Given the description of an element on the screen output the (x, y) to click on. 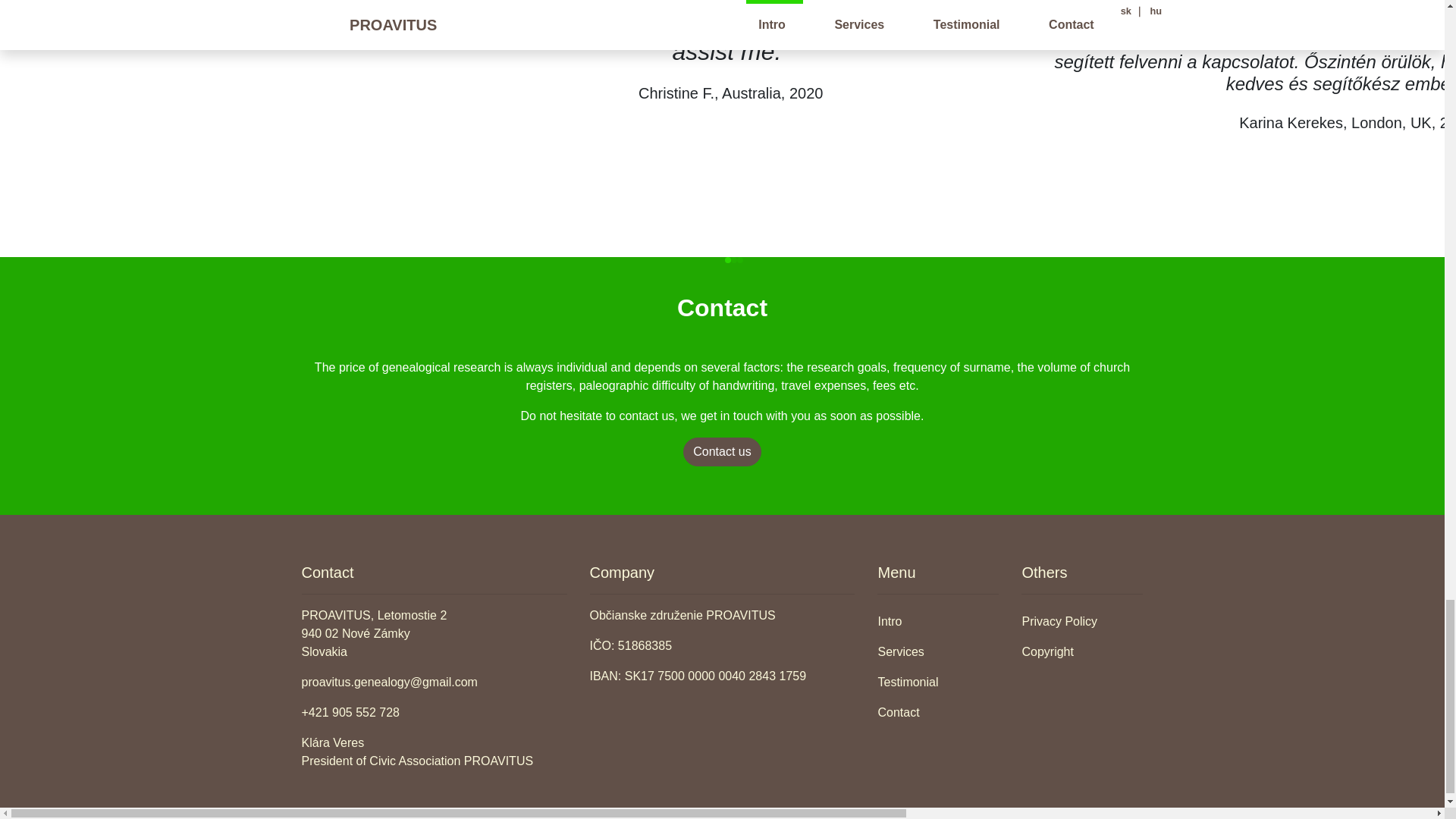
Privacy Policy (1082, 621)
Services (937, 652)
Contact us (721, 451)
Contact (937, 712)
Copyright (1082, 652)
Intro (937, 621)
Testimonial (937, 682)
